Given the description of an element on the screen output the (x, y) to click on. 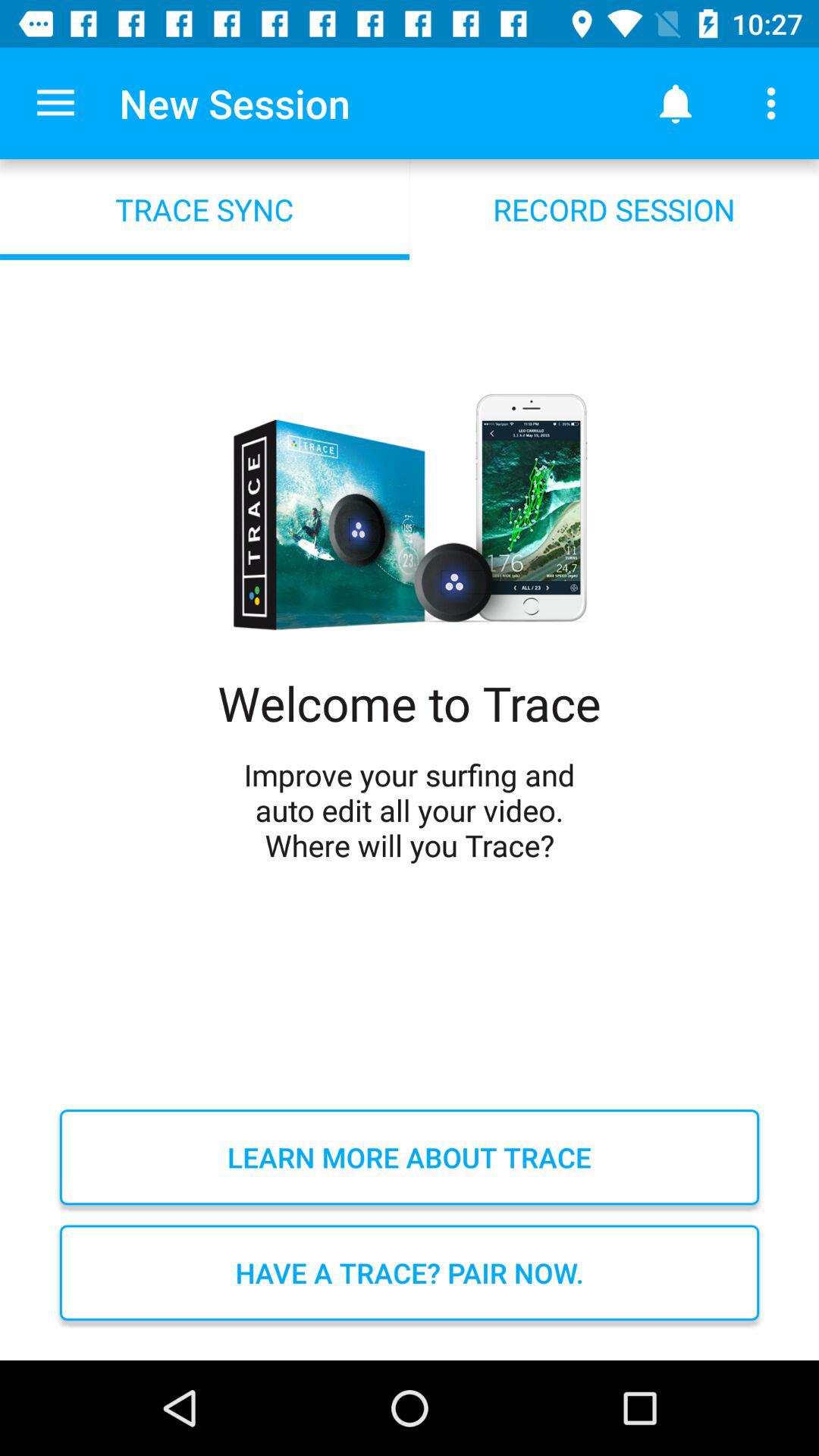
open item next to the new session app (55, 103)
